Given the description of an element on the screen output the (x, y) to click on. 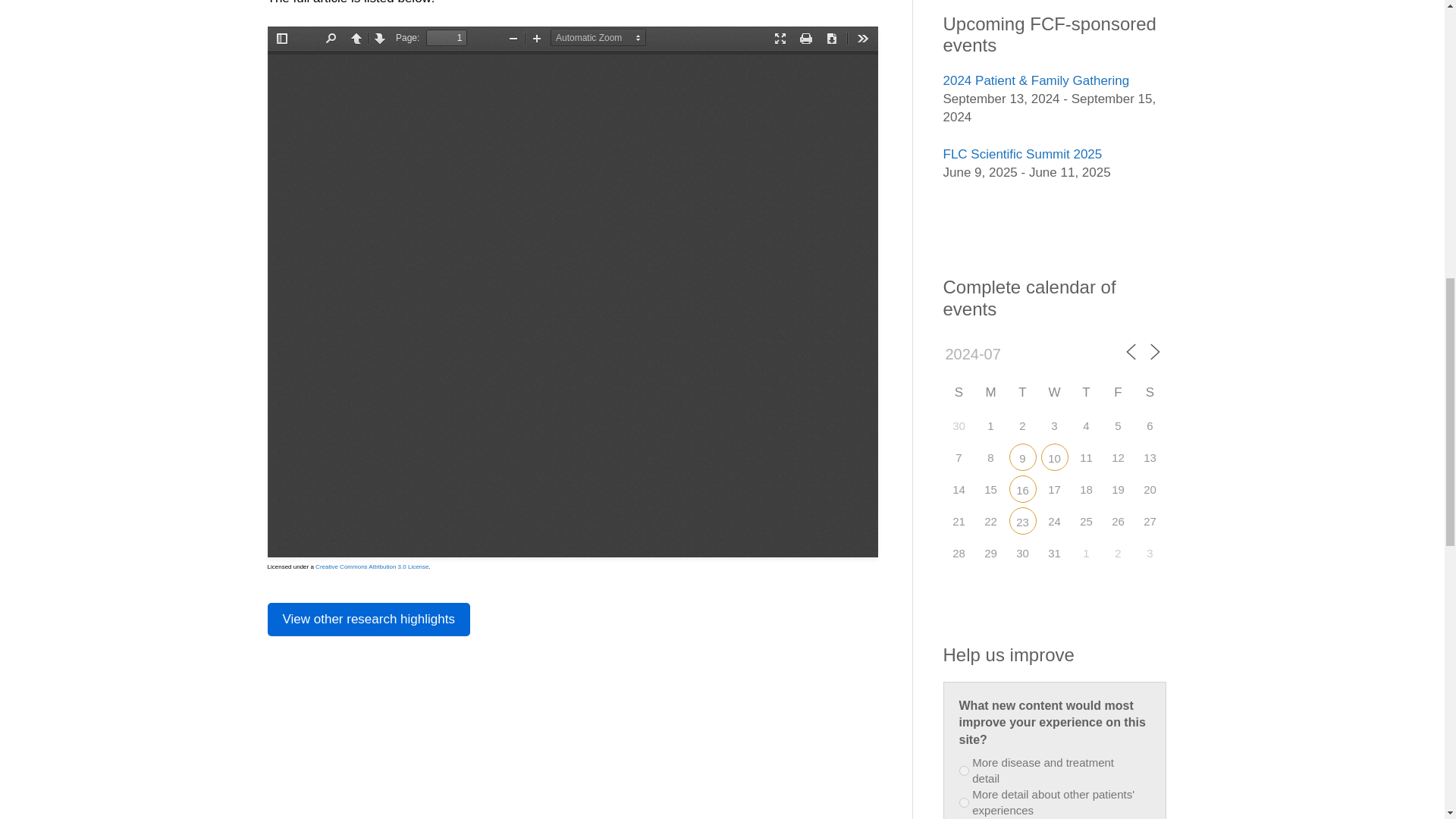
2024-07 (995, 353)
gpoll138370891 (963, 770)
gpoll138f860e0 (963, 802)
